Given the description of an element on the screen output the (x, y) to click on. 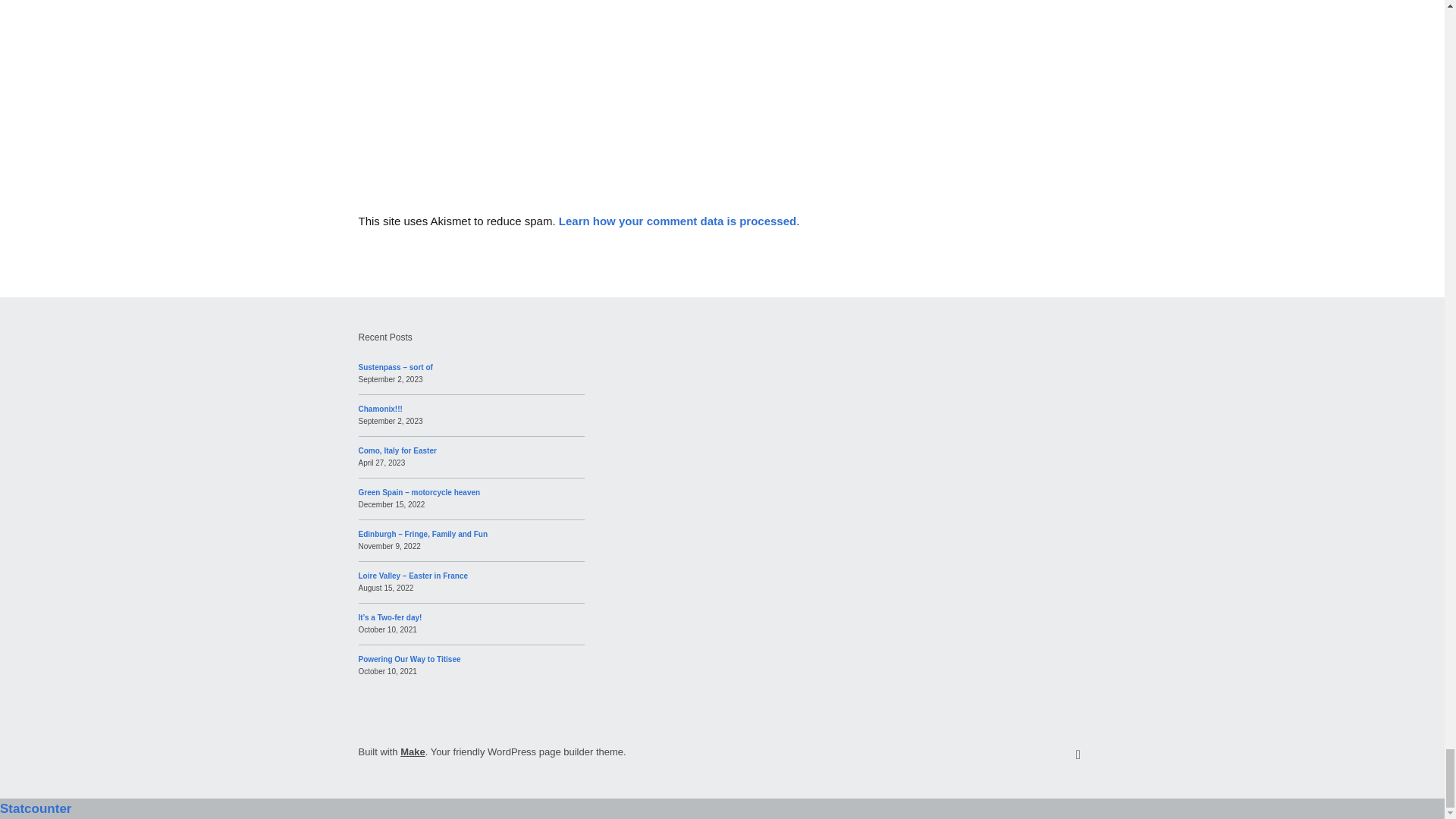
Statcounter (35, 808)
Como, Italy for Easter (396, 450)
Chamonix!!! (379, 408)
Make (412, 751)
Powering Our Way to Titisee (409, 659)
Learn how your comment data is processed (677, 220)
